Given the description of an element on the screen output the (x, y) to click on. 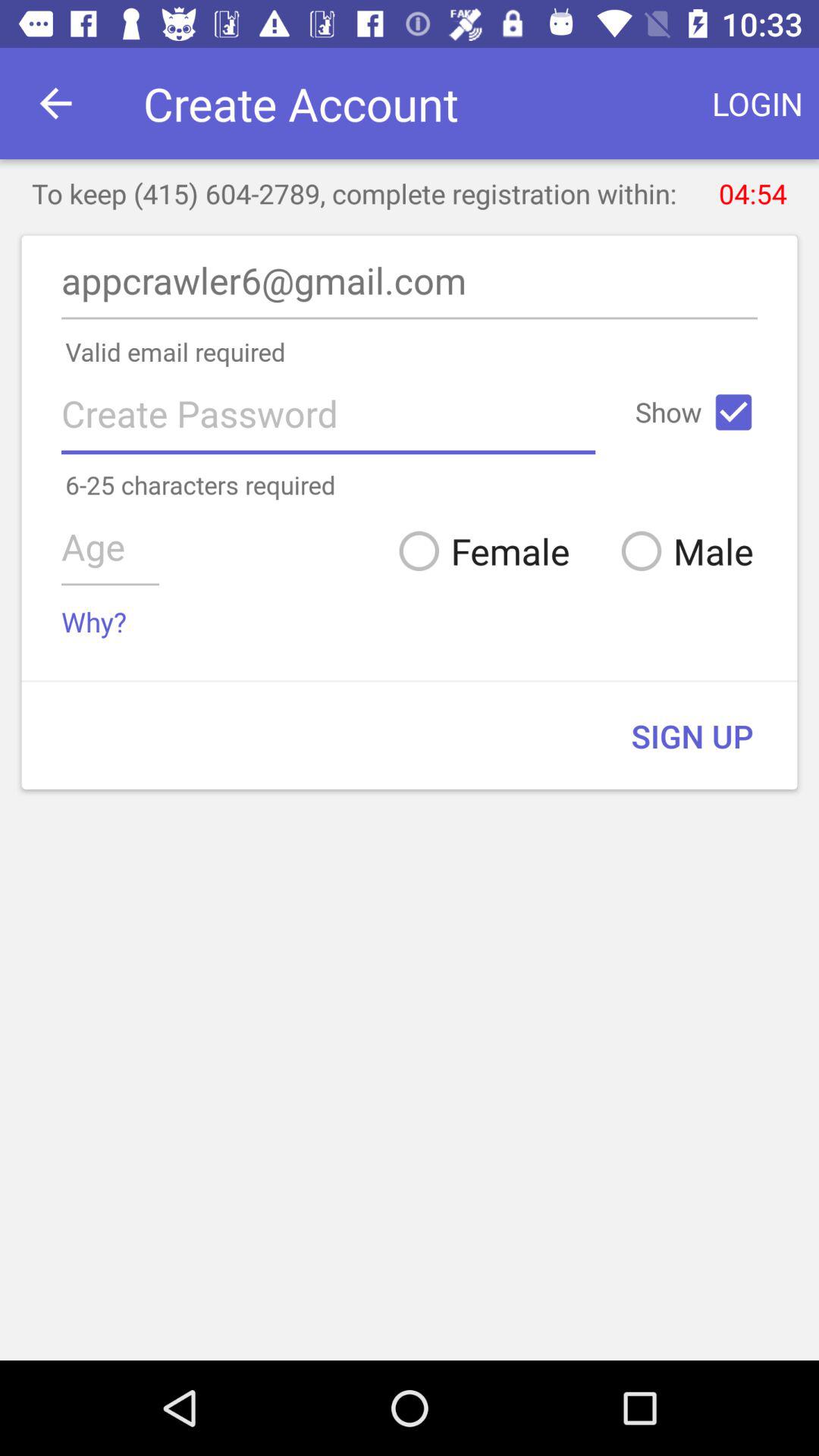
open the item below 6 25 characters item (478, 550)
